Given the description of an element on the screen output the (x, y) to click on. 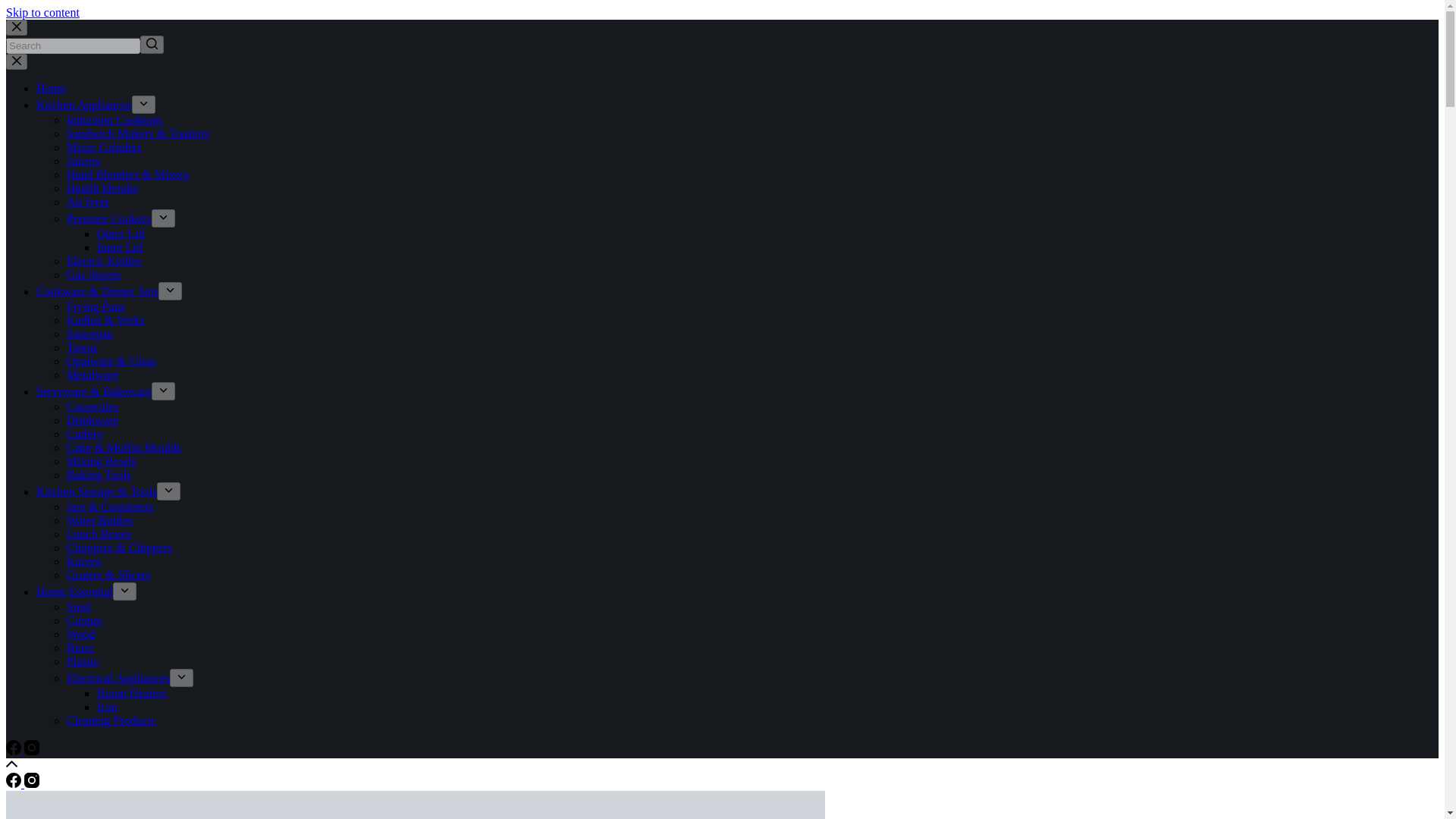
Drinkware (91, 420)
Saucepan (89, 333)
Home (50, 88)
Outer Lid (120, 233)
Induction Cooktops (114, 119)
Water Bottles (99, 520)
Frying Pans (95, 306)
Kitchen Appliances (84, 104)
Cutlery (84, 433)
Tawas (81, 347)
Pressure Cookers (108, 218)
Gas Stoves (93, 274)
Baking Tools (98, 474)
Health blender (102, 187)
Air fryer (87, 201)
